Given the description of an element on the screen output the (x, y) to click on. 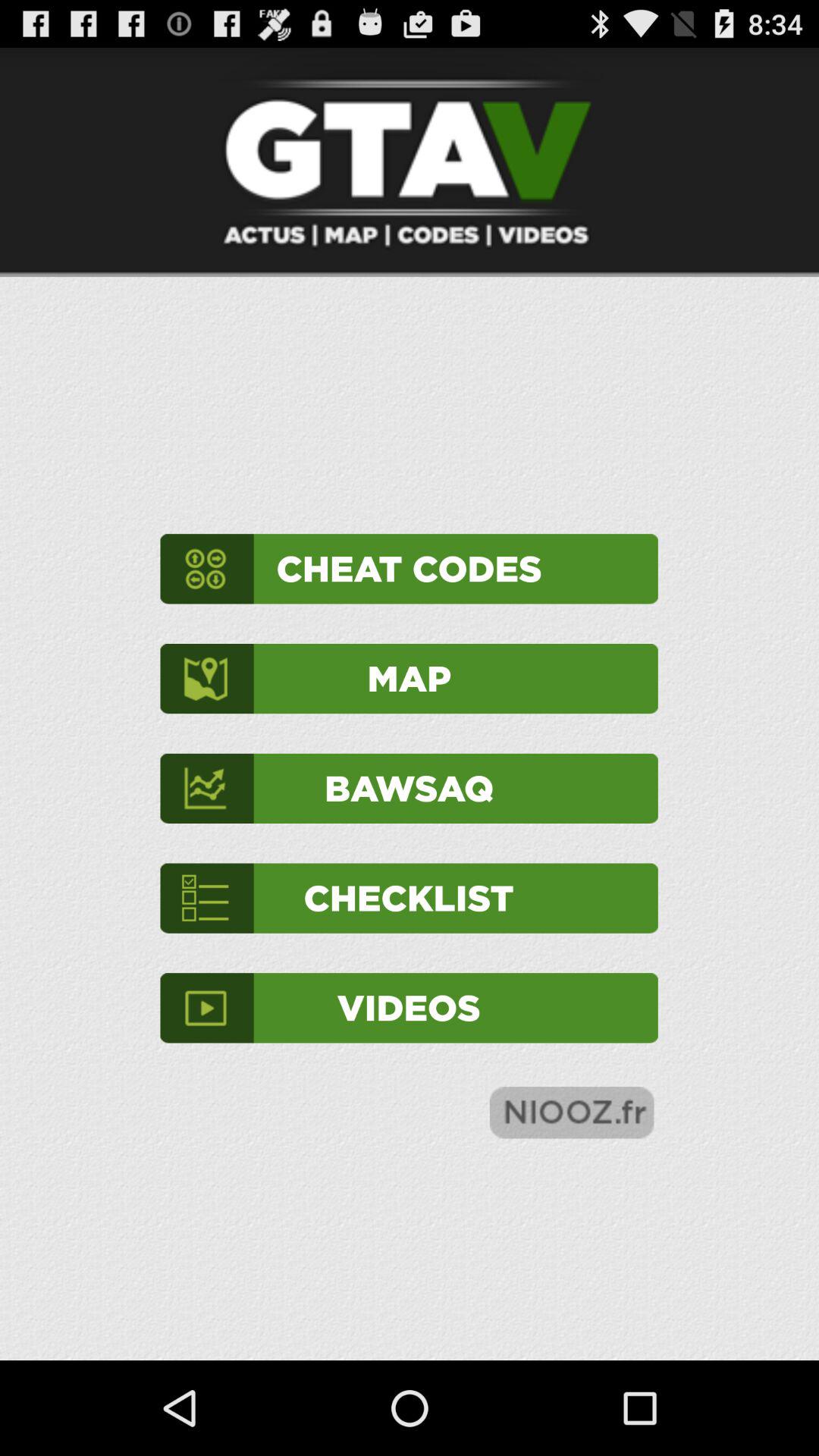
flip until the cheat codes button (409, 569)
